Given the description of an element on the screen output the (x, y) to click on. 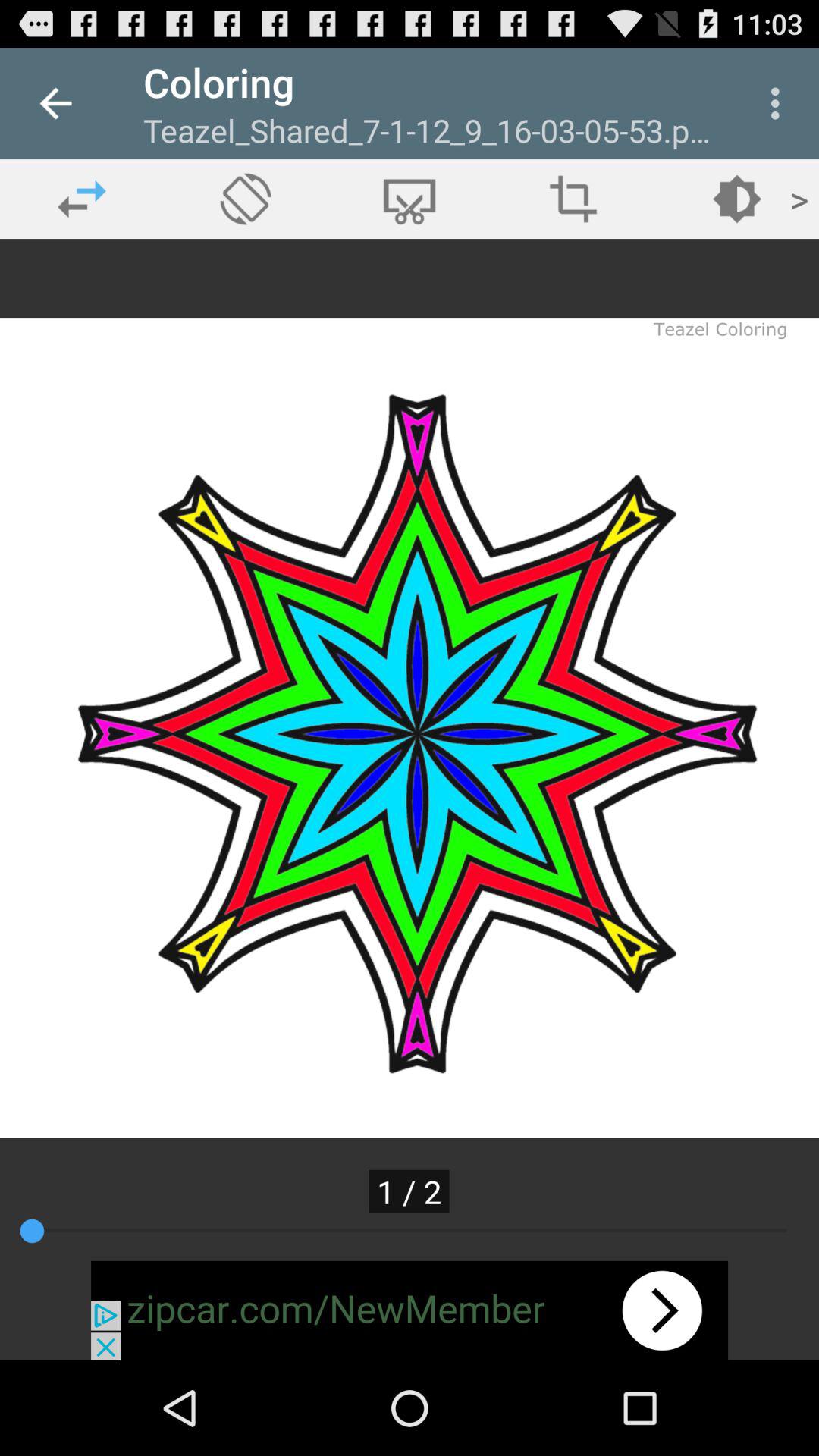
cut (409, 198)
